Given the description of an element on the screen output the (x, y) to click on. 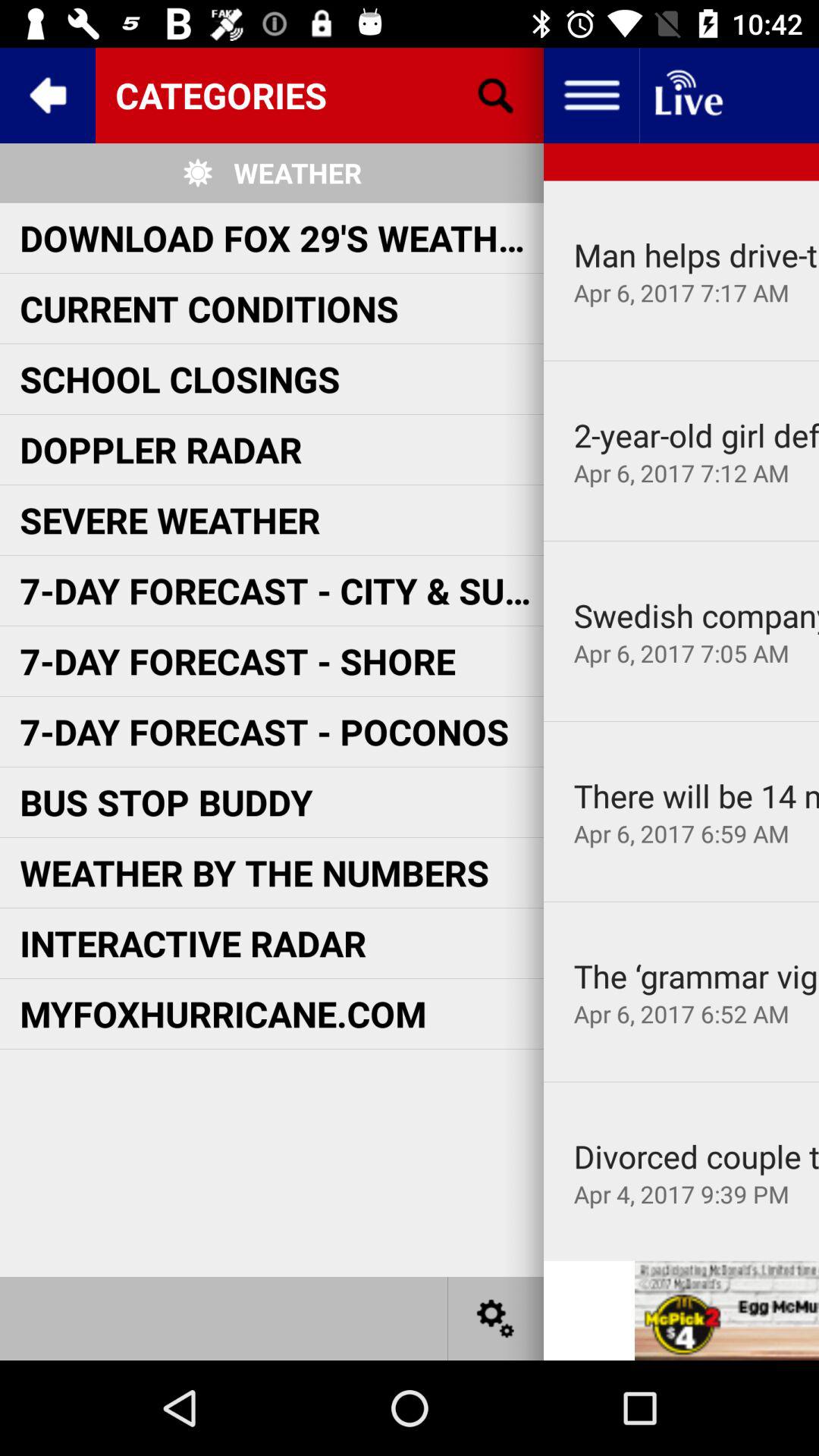
turn on the item above current conditions (281, 237)
